Given the description of an element on the screen output the (x, y) to click on. 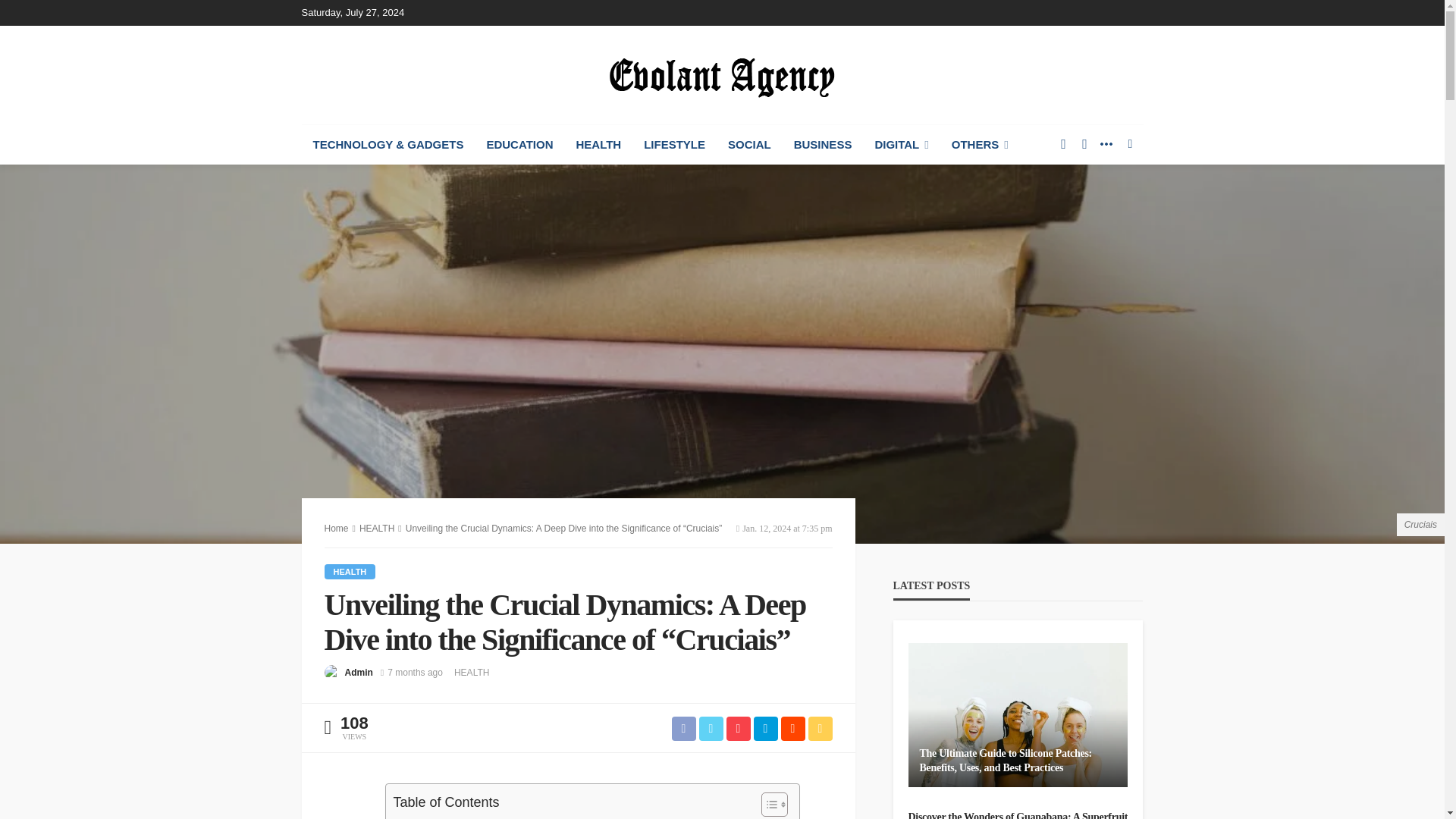
HEALTH (471, 672)
EDUCATION (519, 144)
Introduction: (428, 818)
HEALTH (349, 571)
Evolant Agency (721, 74)
